Given the description of an element on the screen output the (x, y) to click on. 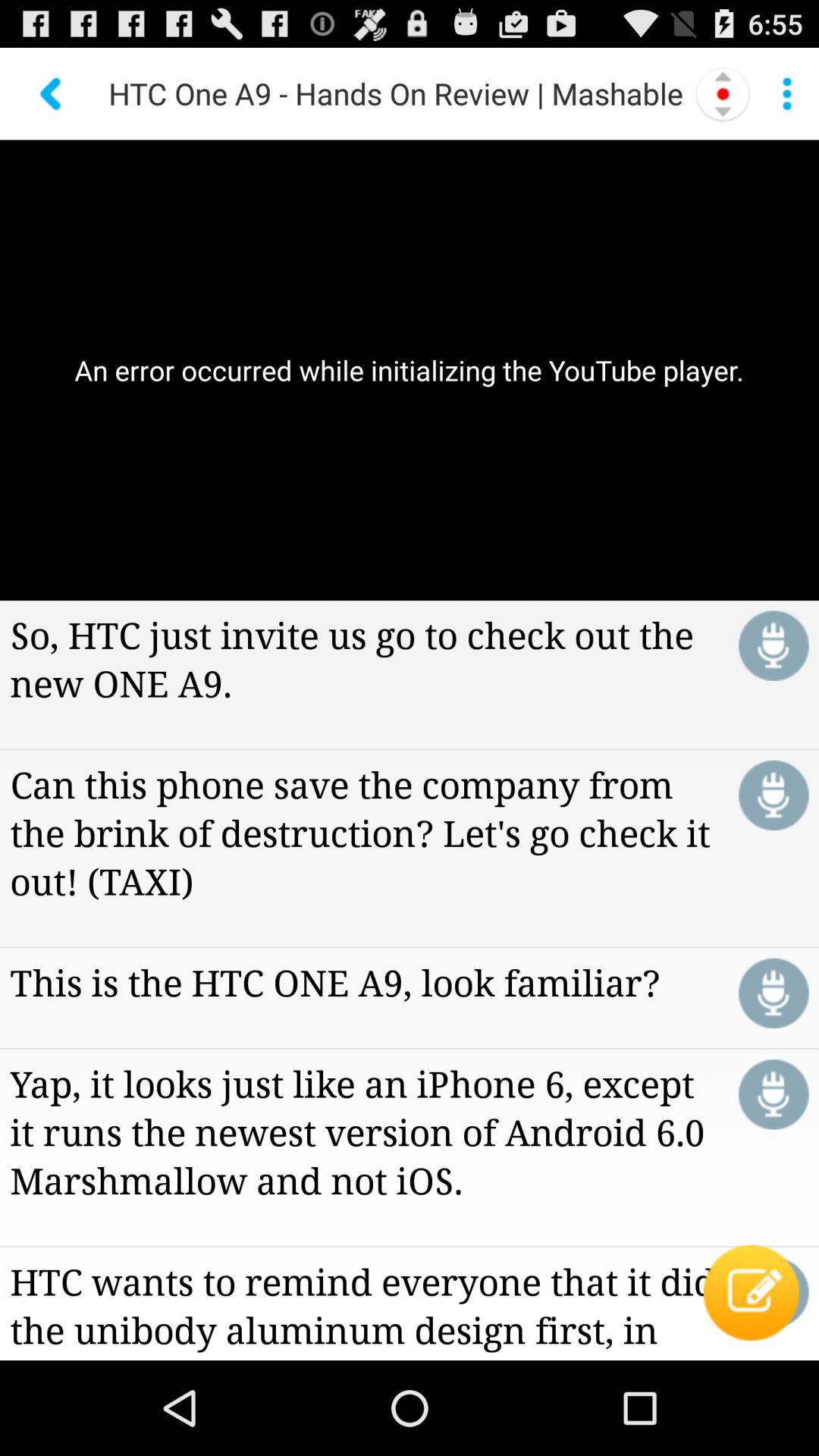
turn on the icon at the top left corner (52, 93)
